Given the description of an element on the screen output the (x, y) to click on. 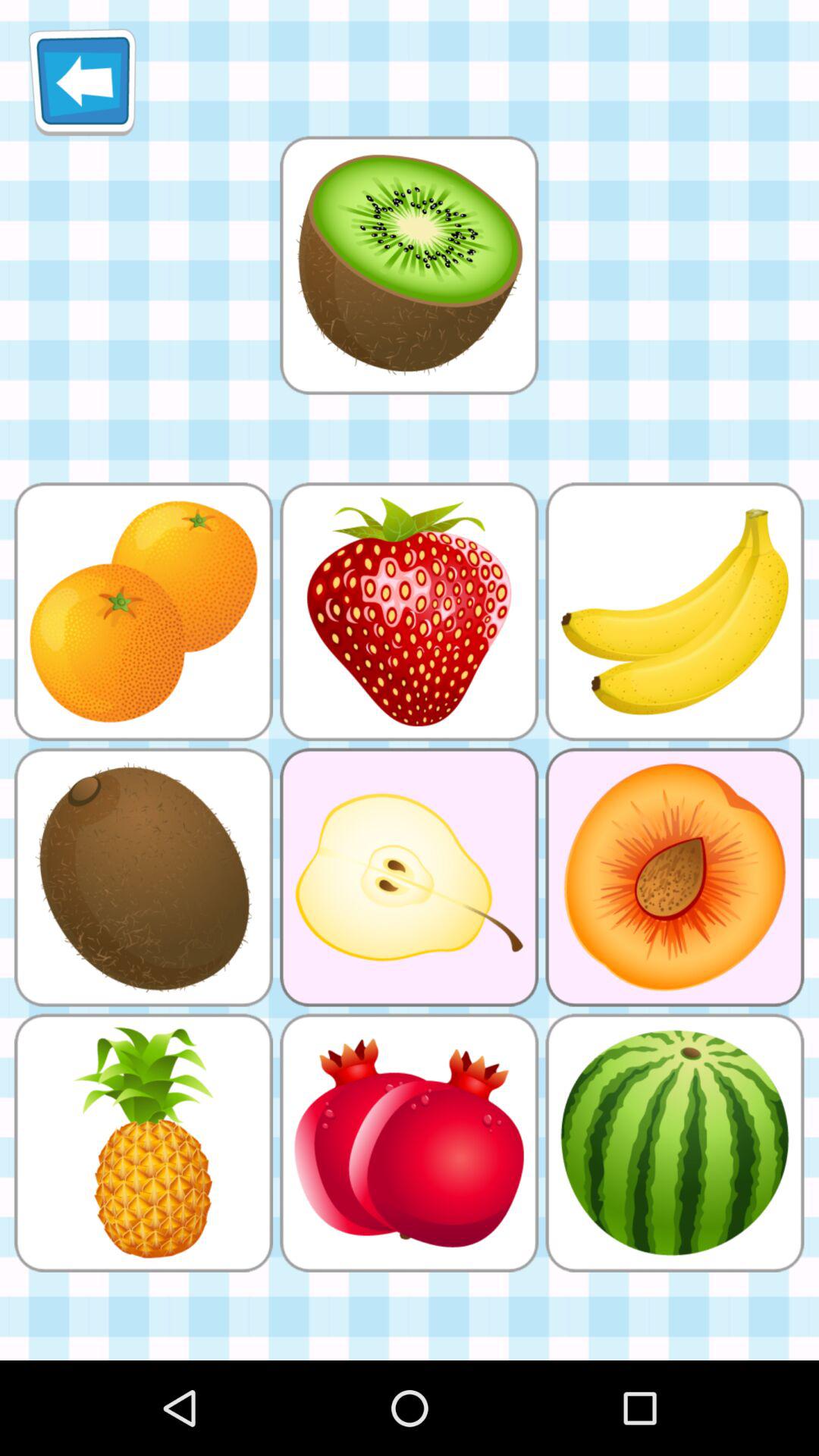
icon selection (409, 265)
